Given the description of an element on the screen output the (x, y) to click on. 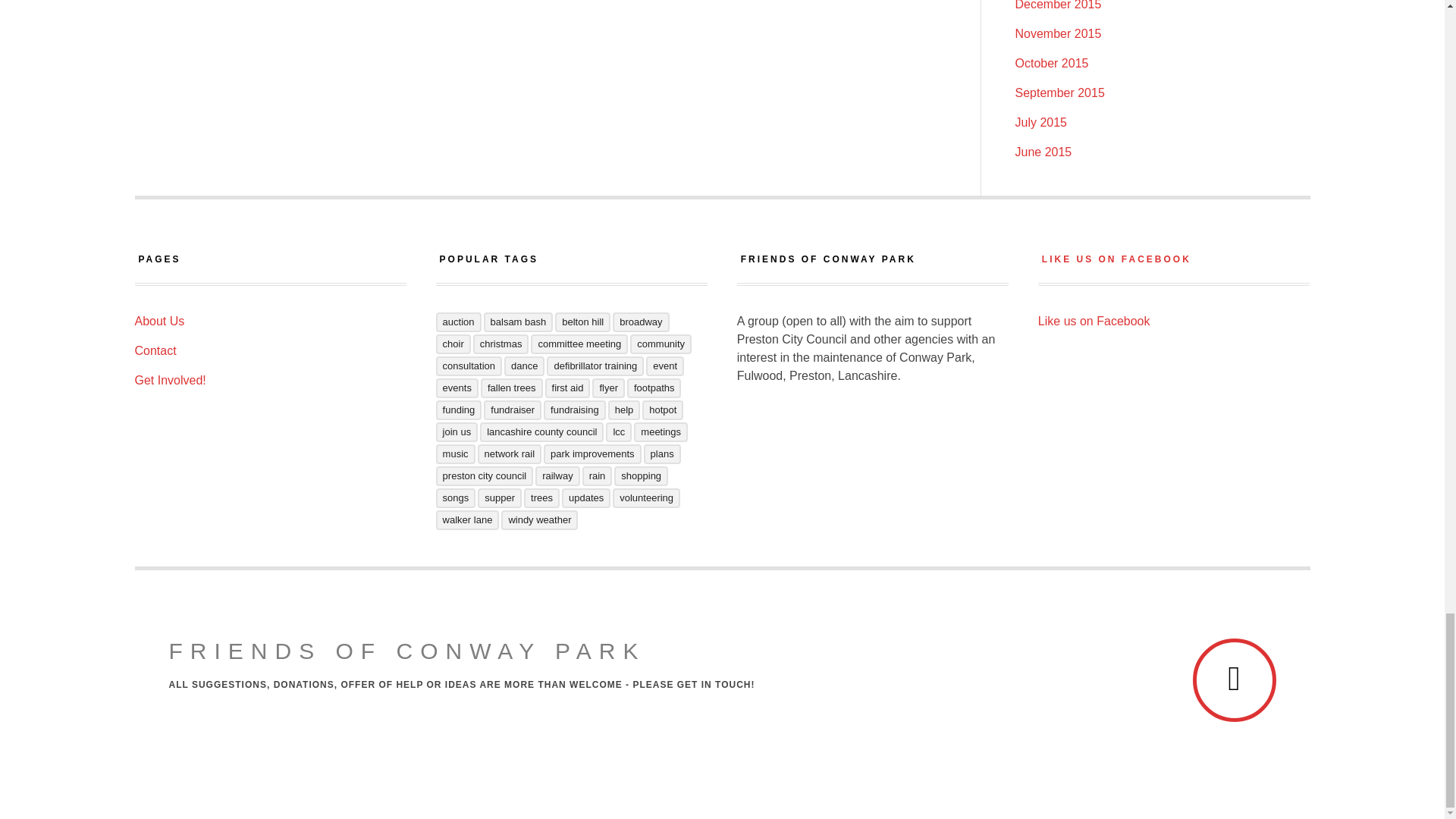
Friends of Conway Park (406, 651)
